Given the description of an element on the screen output the (x, y) to click on. 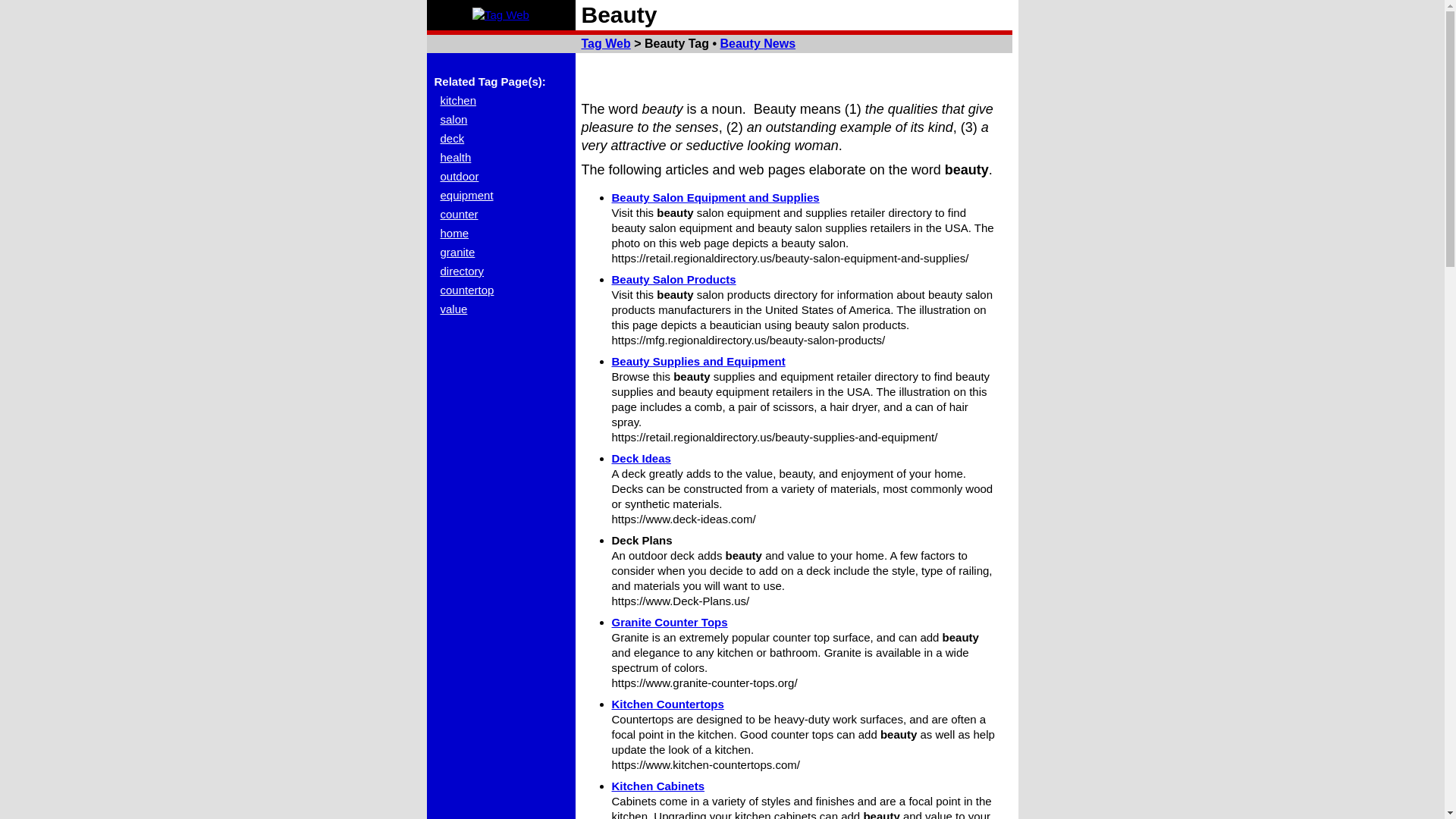
counter (458, 214)
home (453, 232)
Beauty Supplies and Equipment (697, 360)
Beauty News (756, 42)
outdoor (459, 175)
Tag Web (500, 14)
Beauty Salon Products (673, 278)
Beauty News (756, 42)
Kitchen Cabinets (657, 785)
salon (453, 119)
value (453, 308)
Deck Ideas (640, 458)
Granite Counter Tops (668, 621)
health (454, 156)
granite (456, 251)
